Given the description of an element on the screen output the (x, y) to click on. 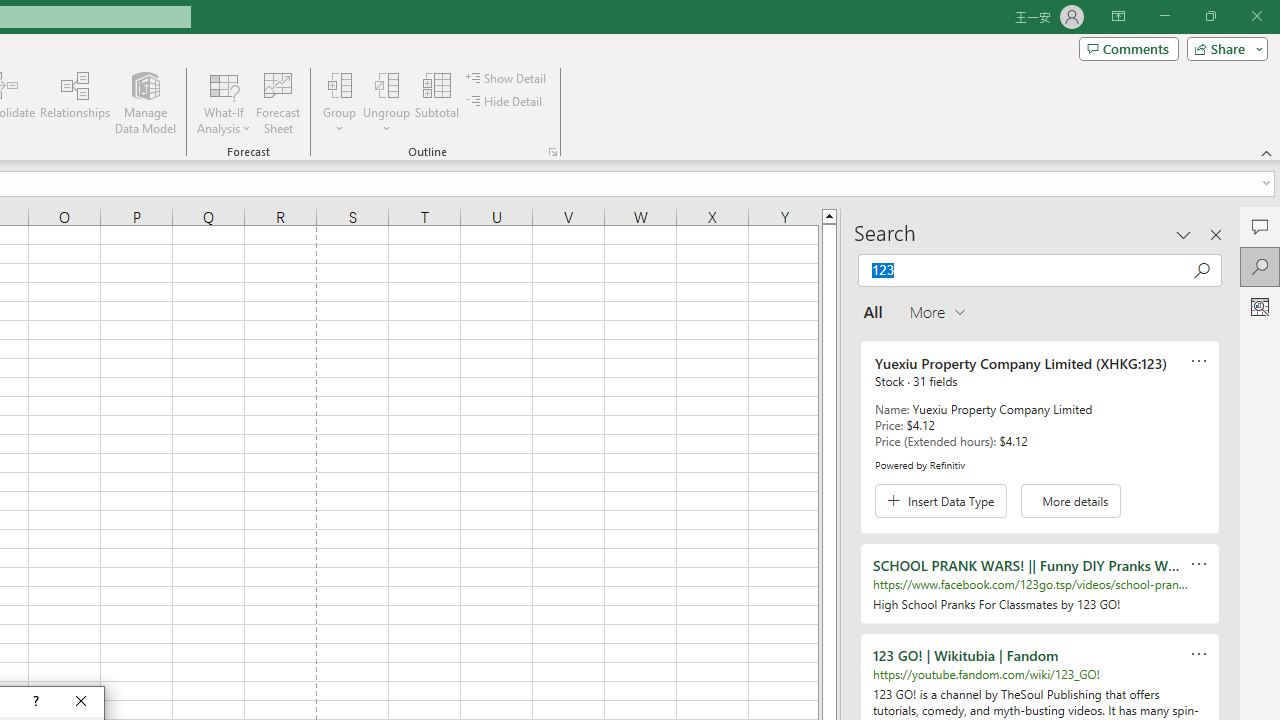
Subtotal (437, 102)
Task Pane Options (1183, 234)
Group... (339, 102)
Analyze Data (1260, 306)
Group... (339, 84)
Search (1260, 266)
Forecast Sheet (278, 102)
Show Detail (507, 78)
